Given the description of an element on the screen output the (x, y) to click on. 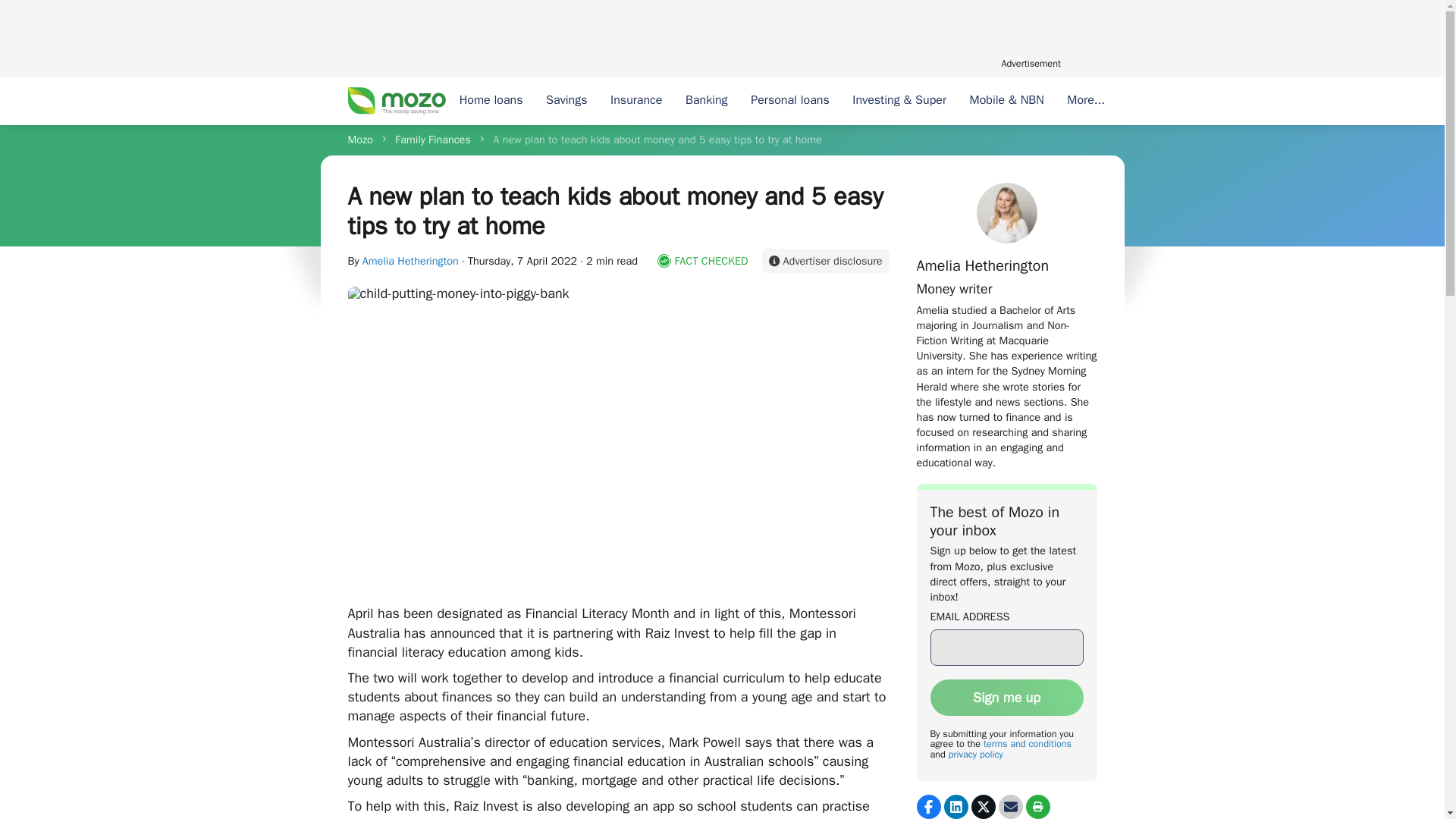
Savings (565, 101)
Home loans (490, 101)
Insurance (635, 101)
